Given the description of an element on the screen output the (x, y) to click on. 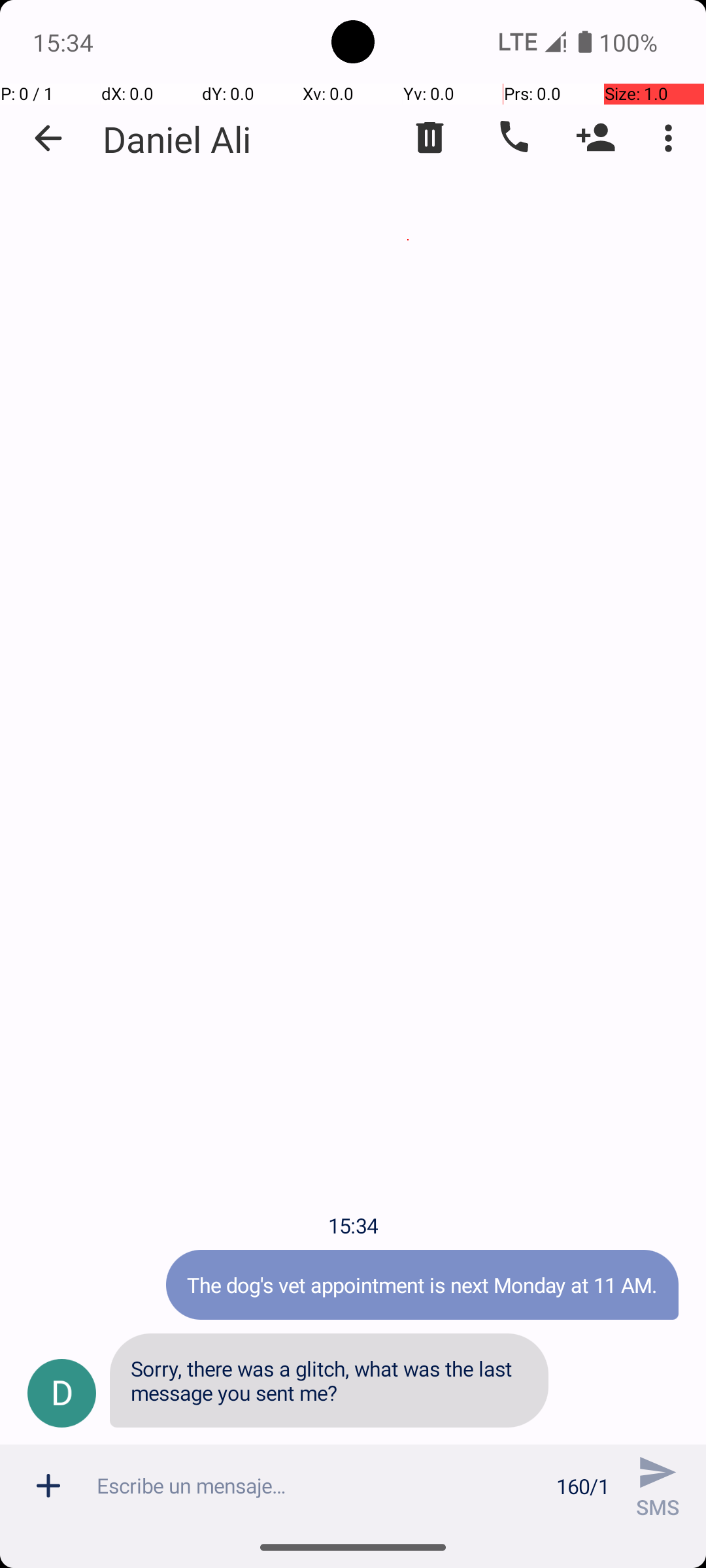
Atrás Element type: android.widget.ImageButton (48, 138)
Daniel Ali Element type: android.widget.TextView (176, 138)
Eliminar Element type: android.widget.Button (429, 137)
Marcar número Element type: android.widget.Button (512, 137)
Añadir persona Element type: android.widget.Button (595, 137)
Archivo adjunto Element type: android.widget.ImageView (48, 1485)
Escribe un mensaje… Element type: android.widget.EditText (318, 1485)
The dog's vet appointment is next Monday at 11 AM. Element type: android.widget.TextView (422, 1284)
